Given the description of an element on the screen output the (x, y) to click on. 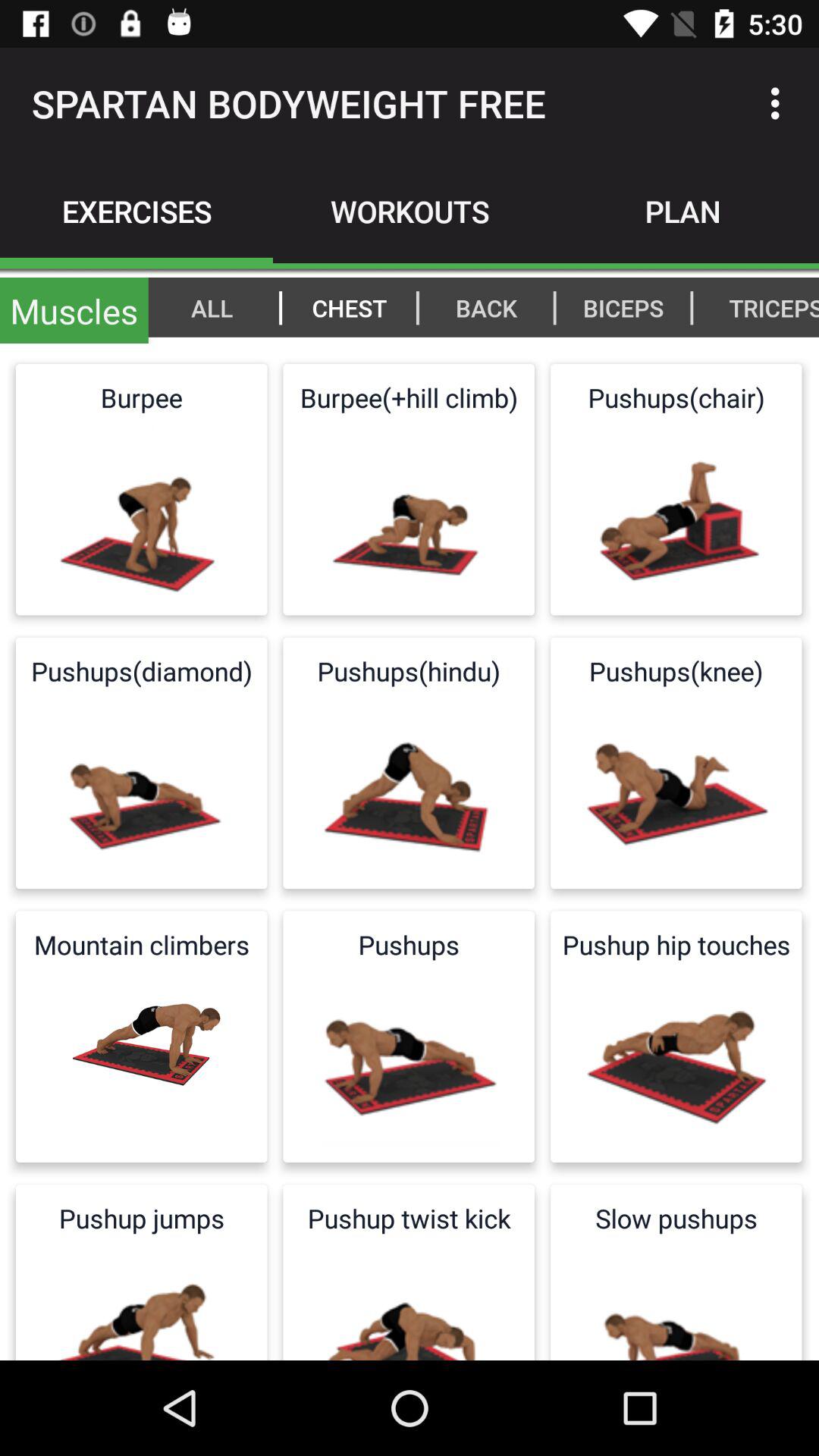
launch icon to the left of | item (348, 307)
